Given the description of an element on the screen output the (x, y) to click on. 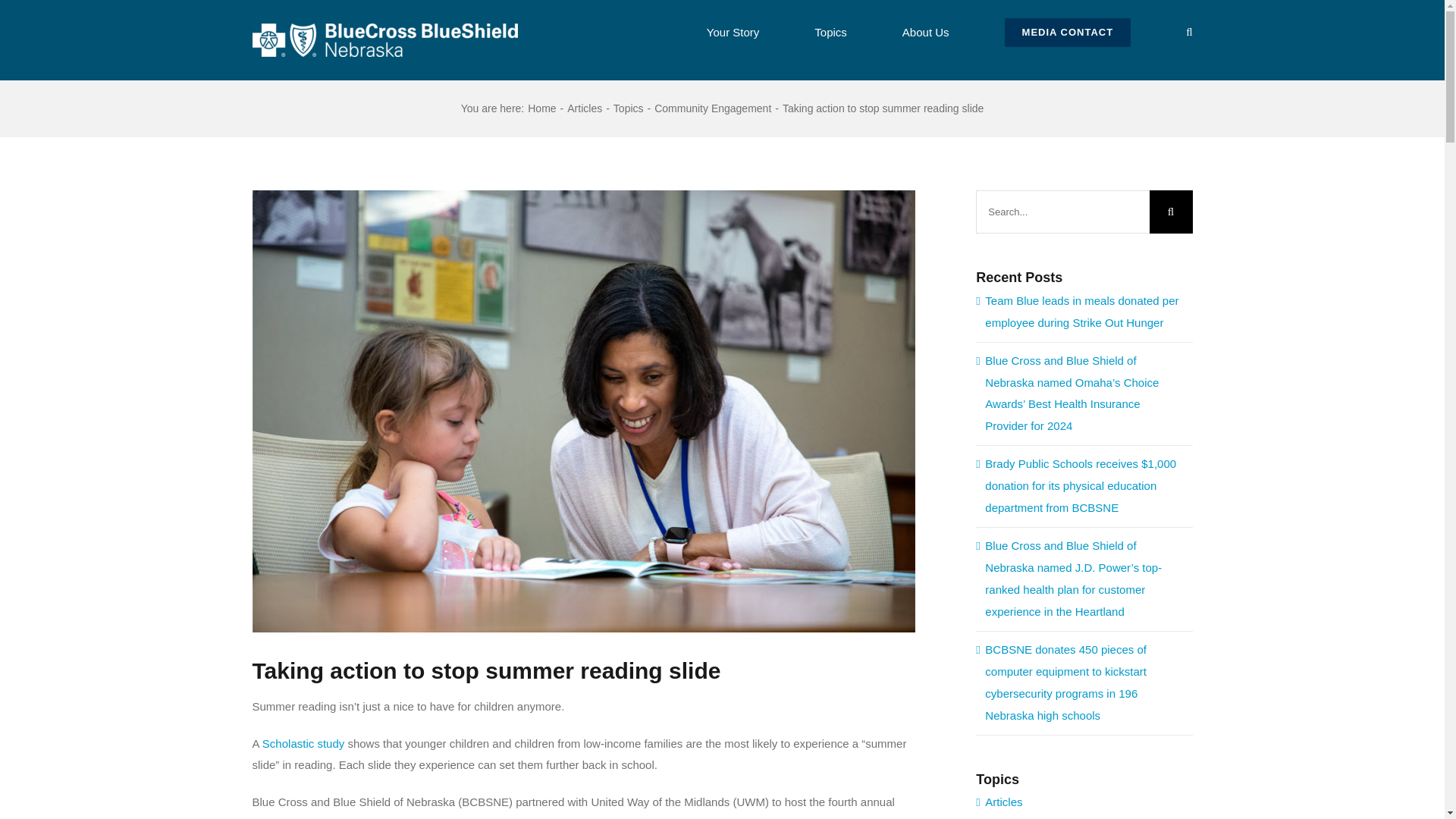
Topics (627, 108)
Community Engagement (712, 108)
Home (541, 108)
Scholastic study (302, 743)
MEDIA CONTACT (1067, 30)
Articles (584, 108)
